Given the description of an element on the screen output the (x, y) to click on. 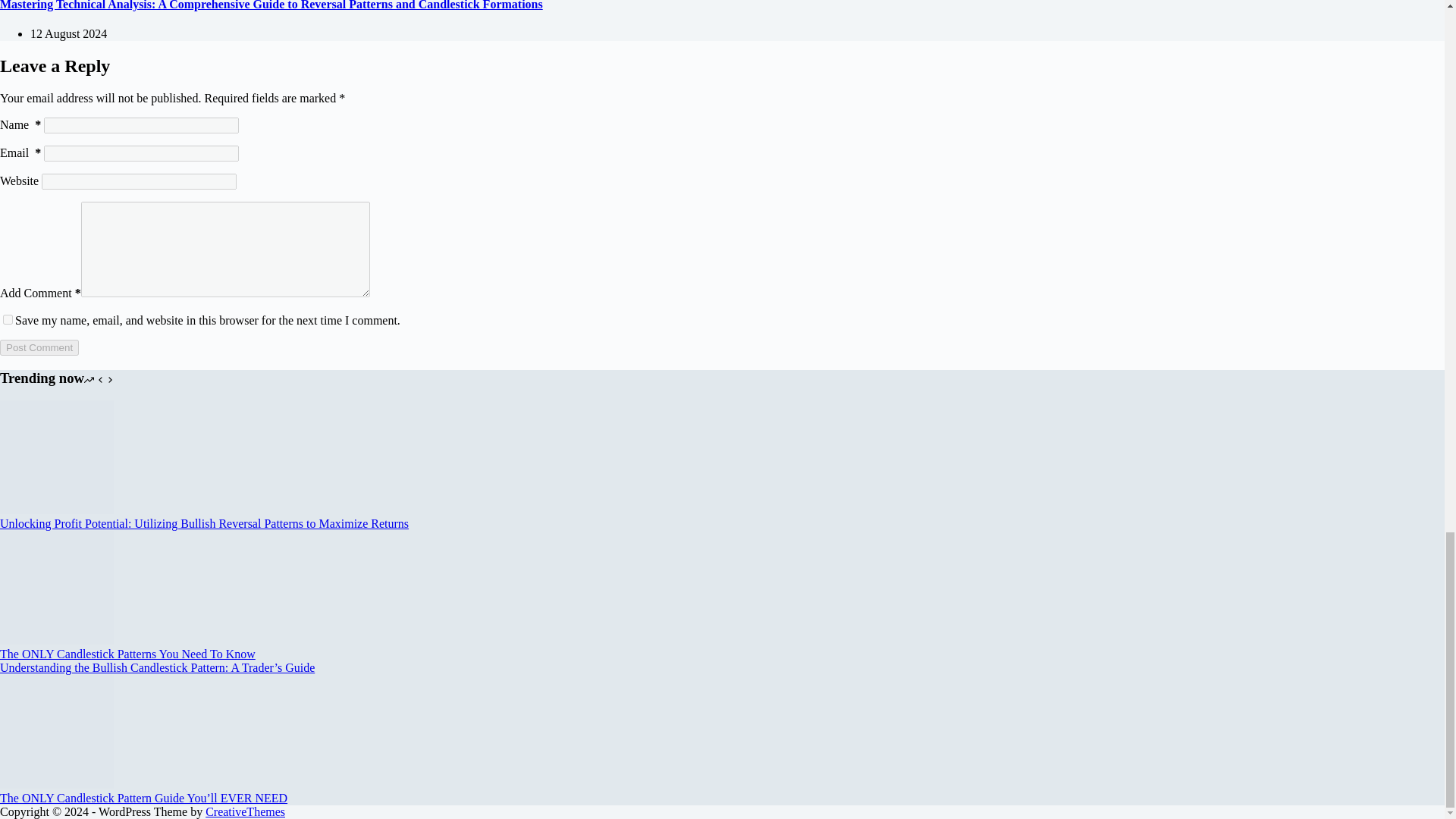
Post Comment (39, 347)
yes (7, 319)
